Given the description of an element on the screen output the (x, y) to click on. 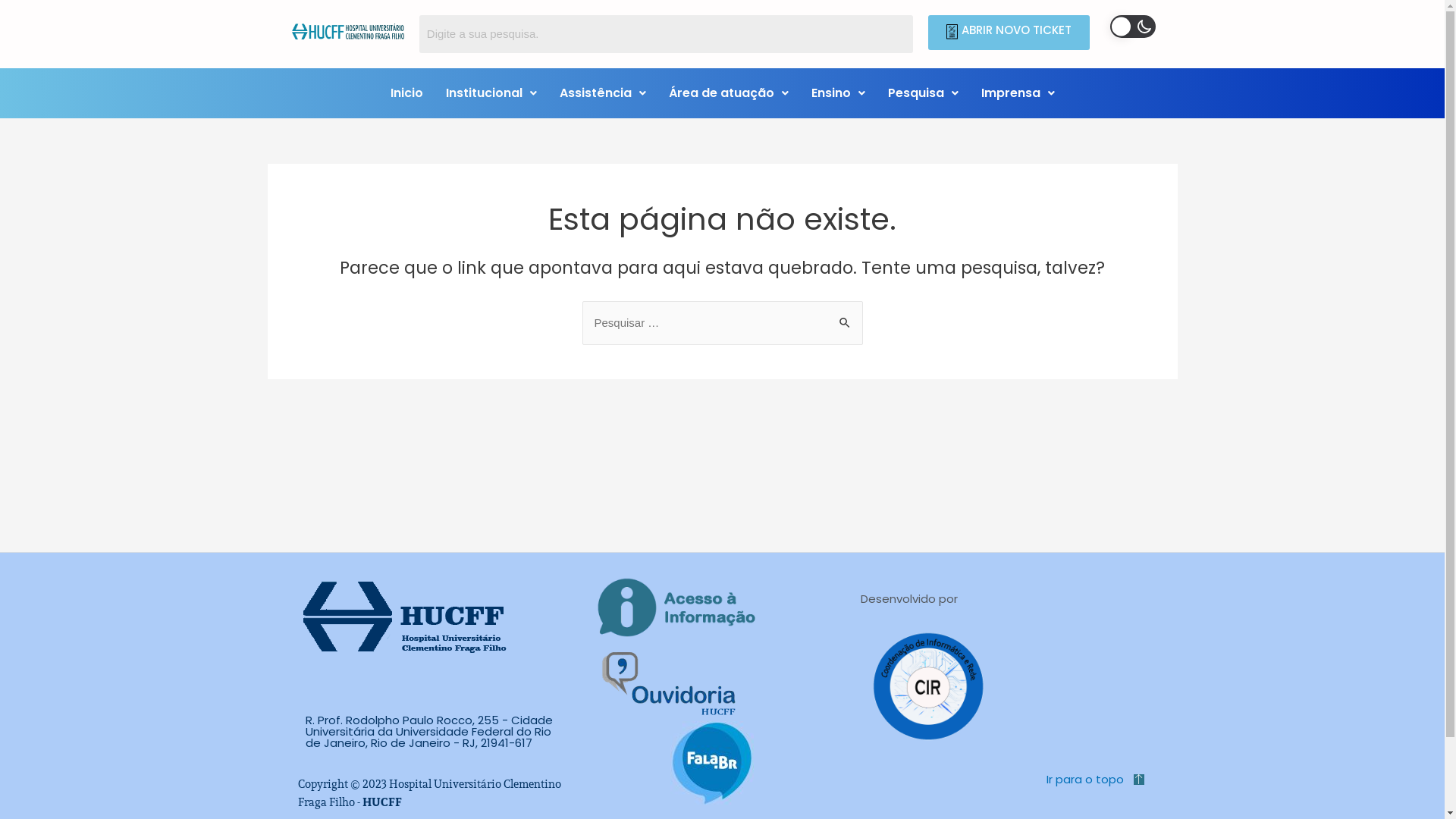
Pesquisar Element type: text (845, 315)
Search Element type: hover (666, 34)
falabr-logo-azu-boml Element type: hover (711, 762)
Inicio Element type: text (406, 92)
Ir para o topo Element type: text (1084, 779)
Imprensa Element type: text (1017, 92)
ABRIR NOVO TICKET Element type: text (1008, 32)
ouvidoria Element type: hover (670, 684)
Pesquisa Element type: text (922, 92)
Institucional Element type: text (490, 92)
Ensino Element type: text (837, 92)
